Given the description of an element on the screen output the (x, y) to click on. 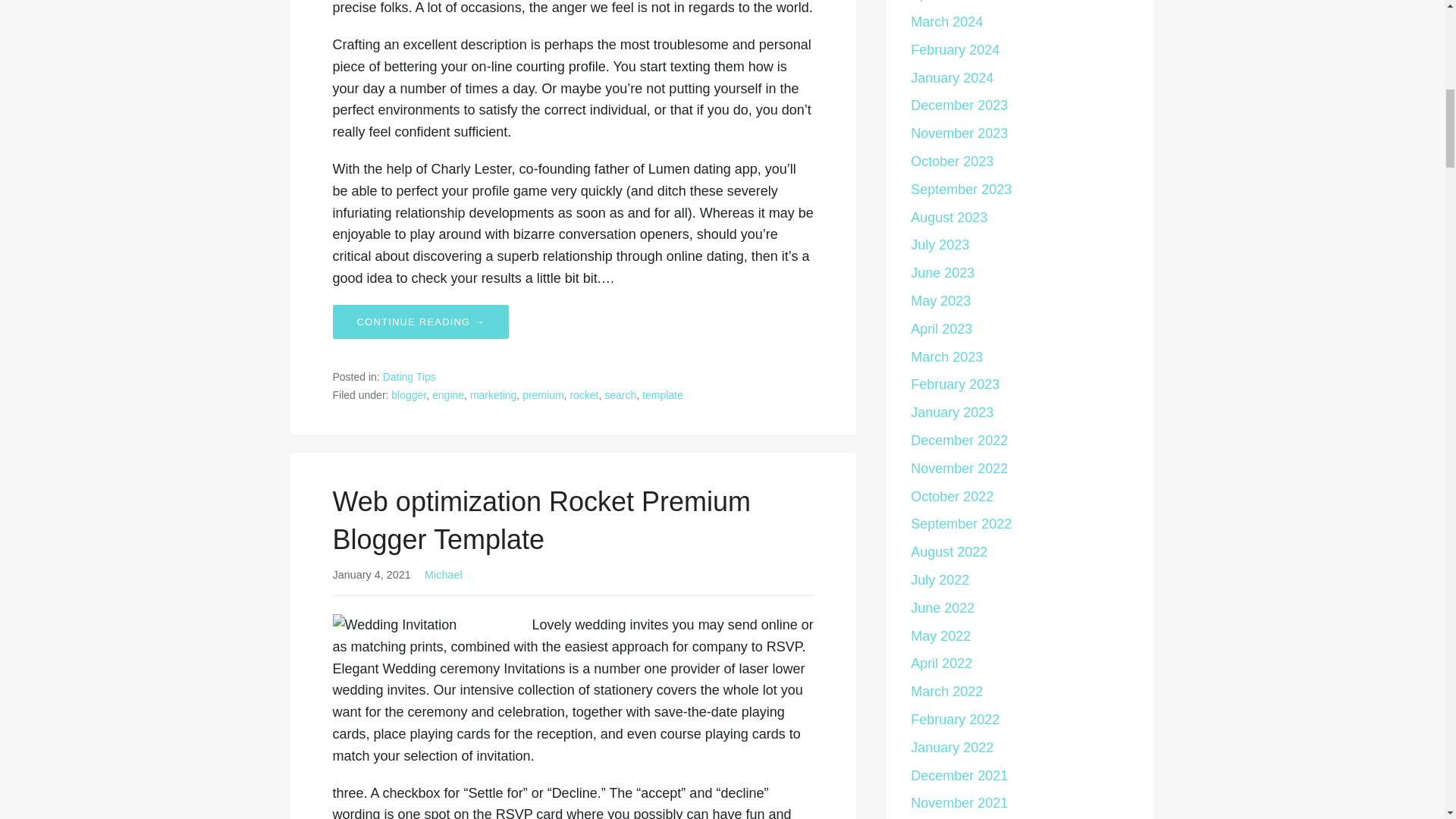
search (620, 395)
engine (448, 395)
marketing (493, 395)
template (662, 395)
Michael (444, 574)
Dating Tips (408, 377)
Web optimization Rocket Premium Blogger Template (541, 520)
Posts by Michael (444, 574)
premium (542, 395)
blogger (408, 395)
rocket (583, 395)
